Given the description of an element on the screen output the (x, y) to click on. 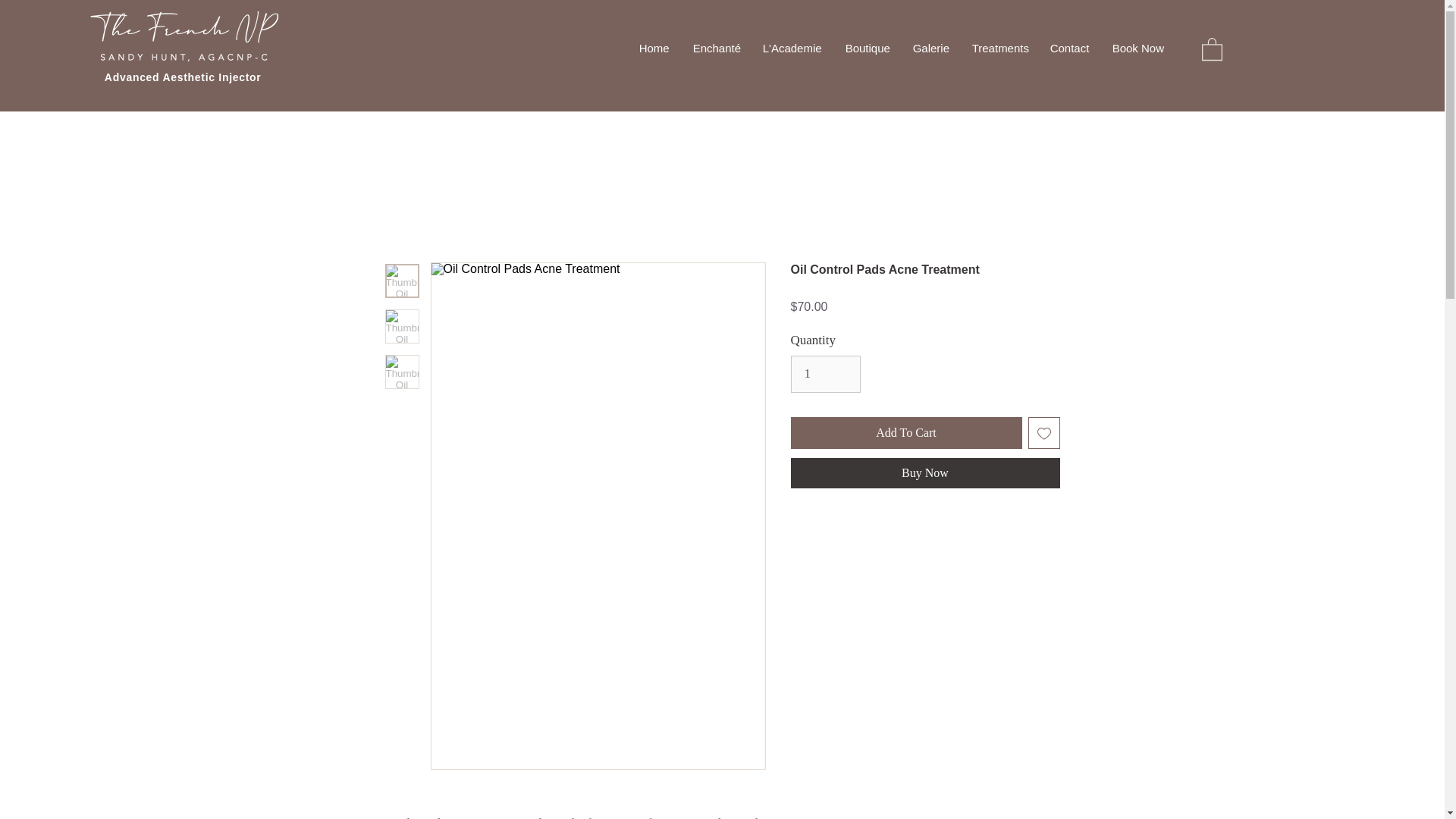
1 (825, 374)
Book Now (1137, 48)
Boutique (866, 48)
Galerie (930, 48)
Buy Now (924, 472)
L'Academie (791, 48)
Add To Cart (906, 432)
Home (654, 48)
